Given the description of an element on the screen output the (x, y) to click on. 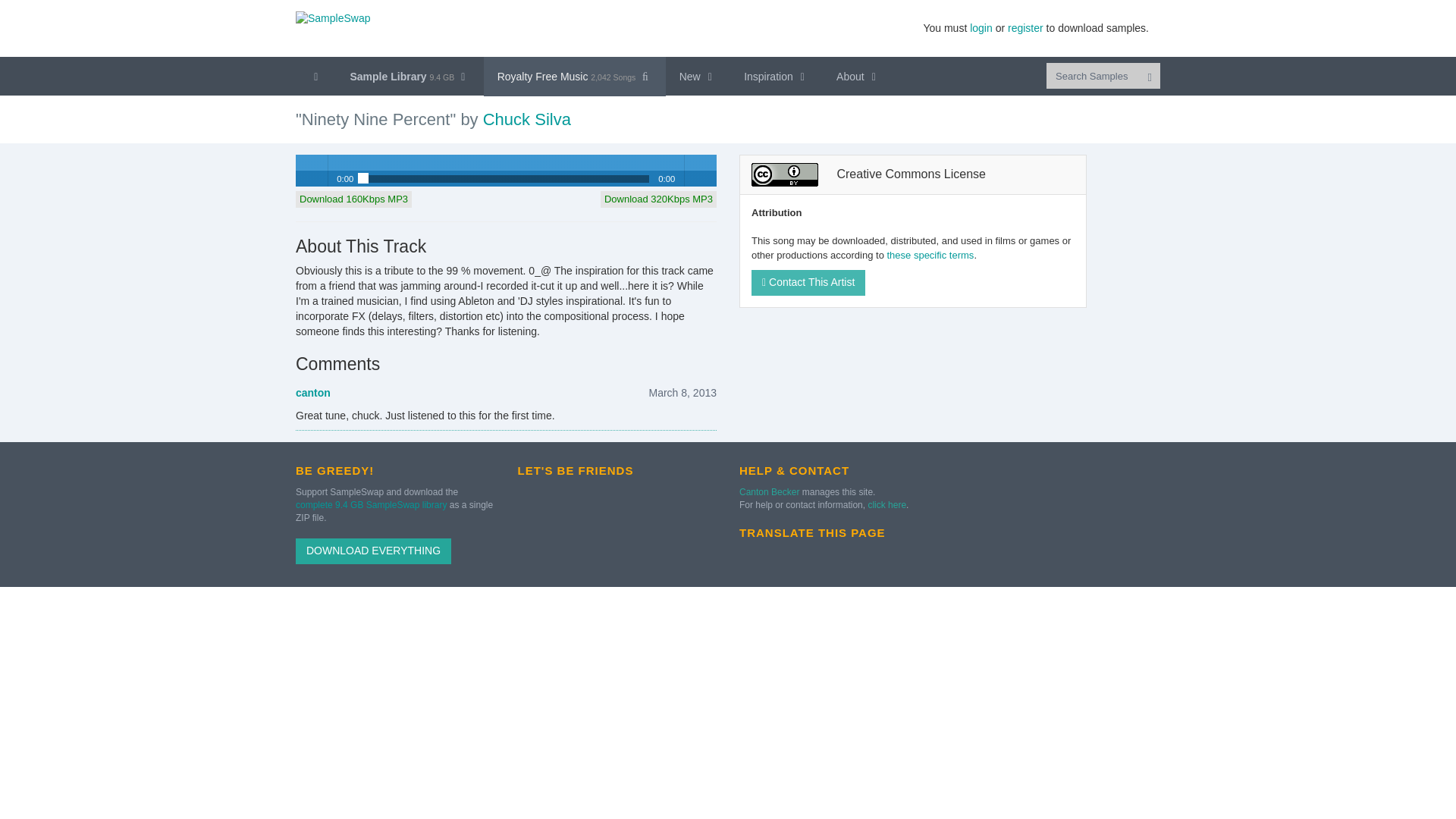
login (980, 28)
register (1025, 28)
Sample Library 9.4 GB (409, 76)
